Given the description of an element on the screen output the (x, y) to click on. 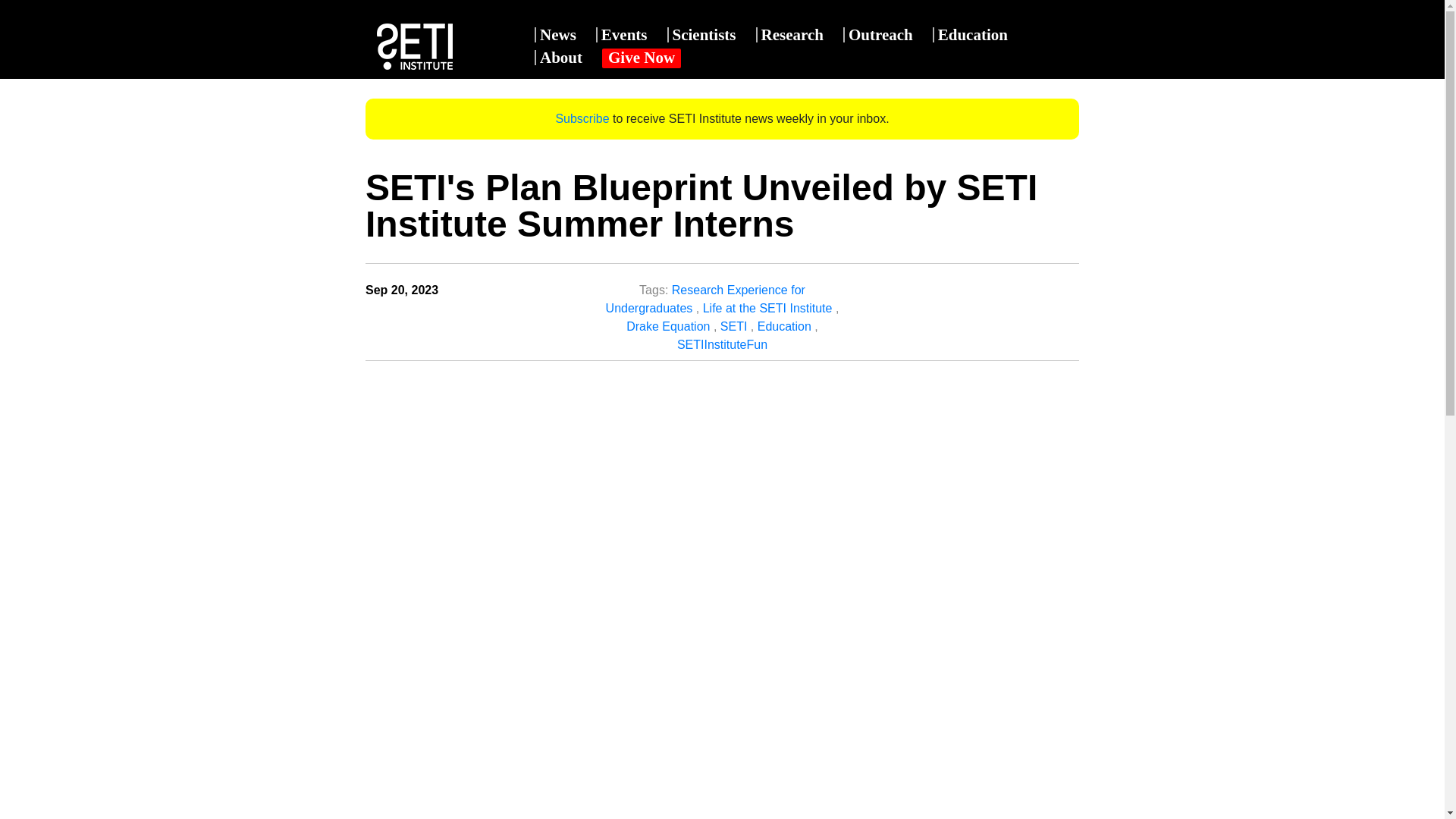
Search (500, 40)
Home (414, 46)
Education (783, 326)
Education (970, 34)
Outreach (877, 34)
Give Now (641, 57)
Search (500, 40)
Events (621, 34)
SETIInstituteFun (722, 344)
About (558, 57)
News (555, 34)
Research (789, 34)
Drake Equation (668, 326)
Research Experience for Undergraduates (705, 298)
